Given the description of an element on the screen output the (x, y) to click on. 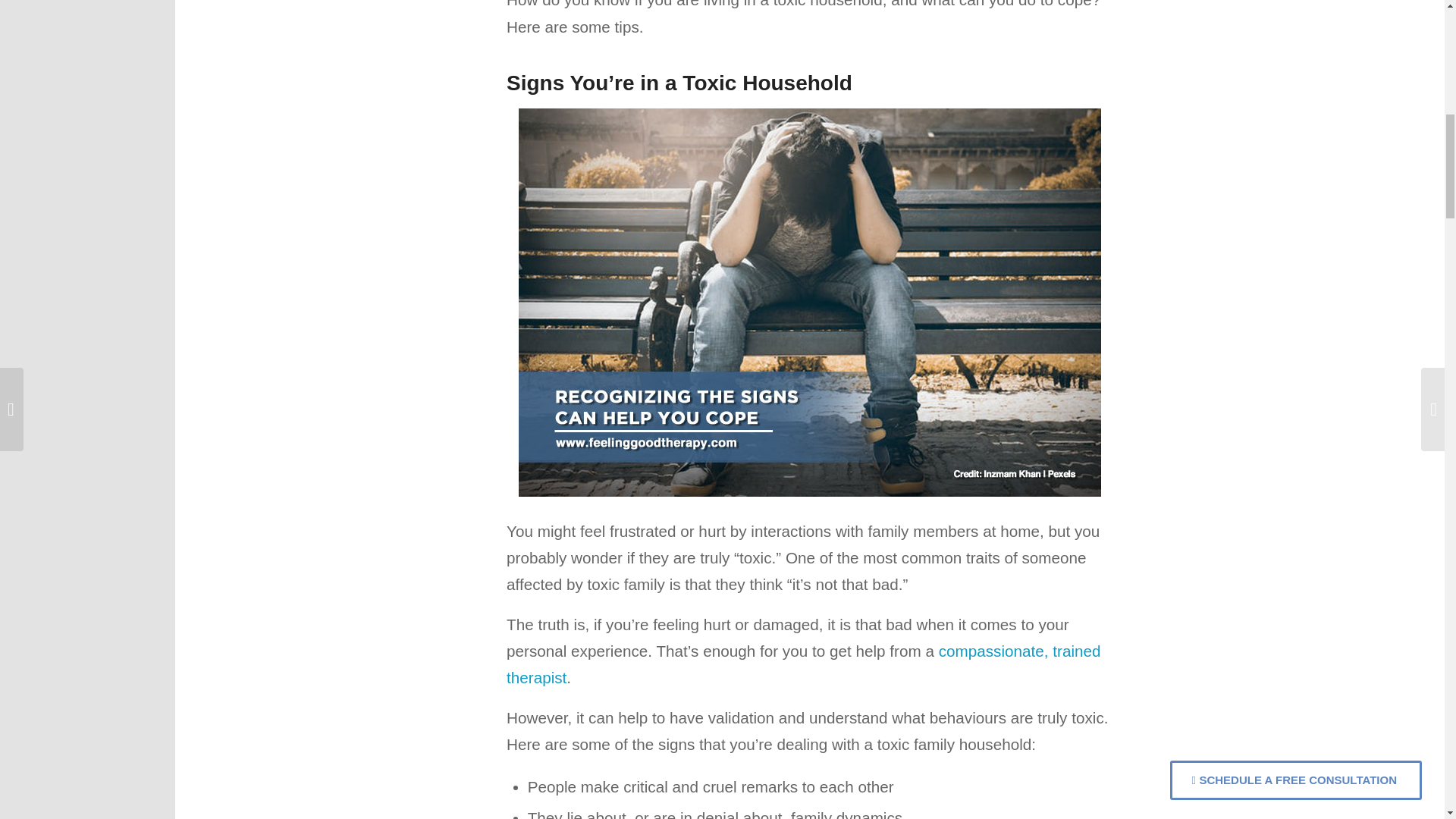
compassionate, trained therapist (803, 664)
